Given the description of an element on the screen output the (x, y) to click on. 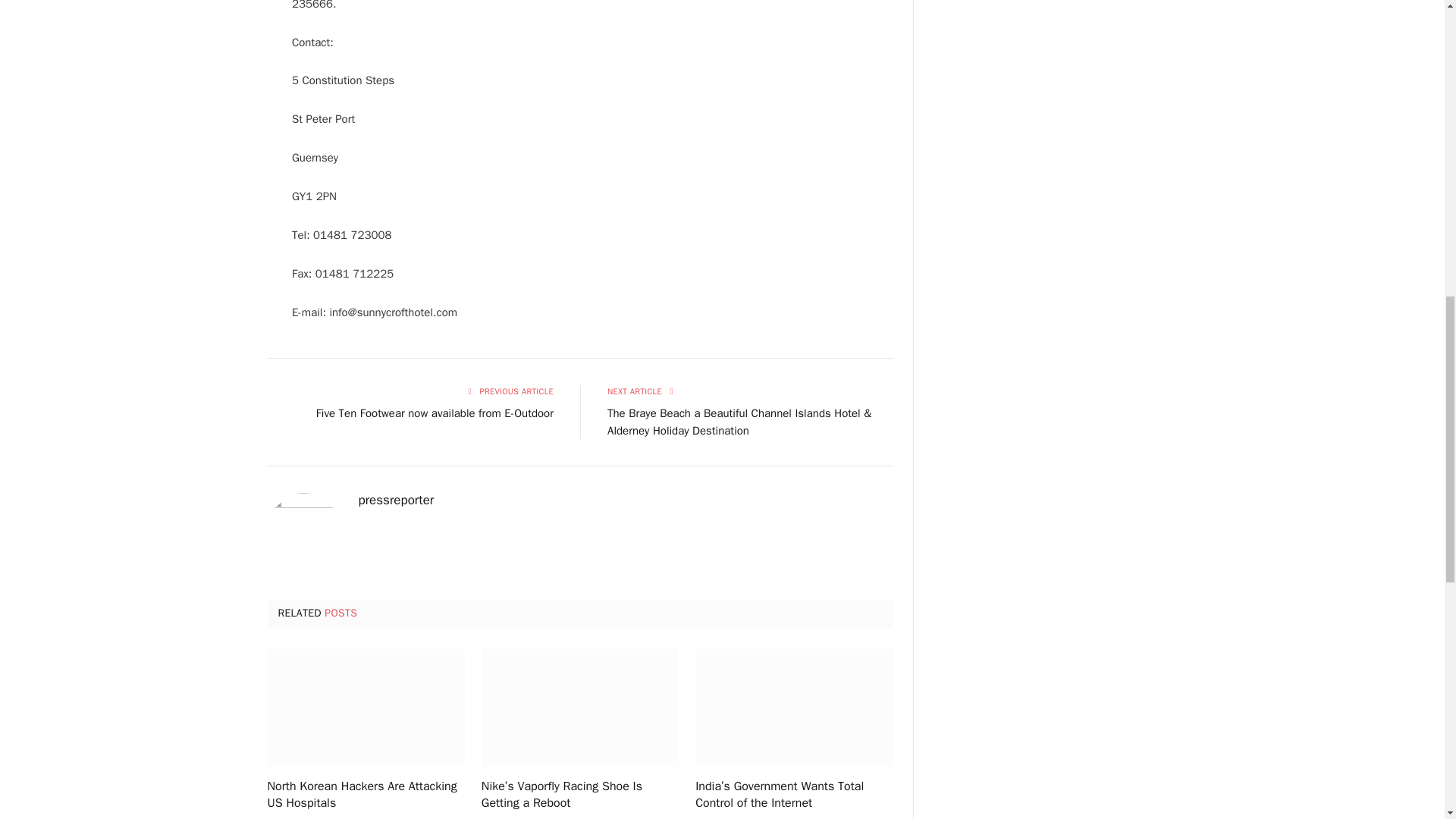
North Korean Hackers Are Attacking US Hospitals (365, 707)
Posts by pressreporter (395, 500)
